Given the description of an element on the screen output the (x, y) to click on. 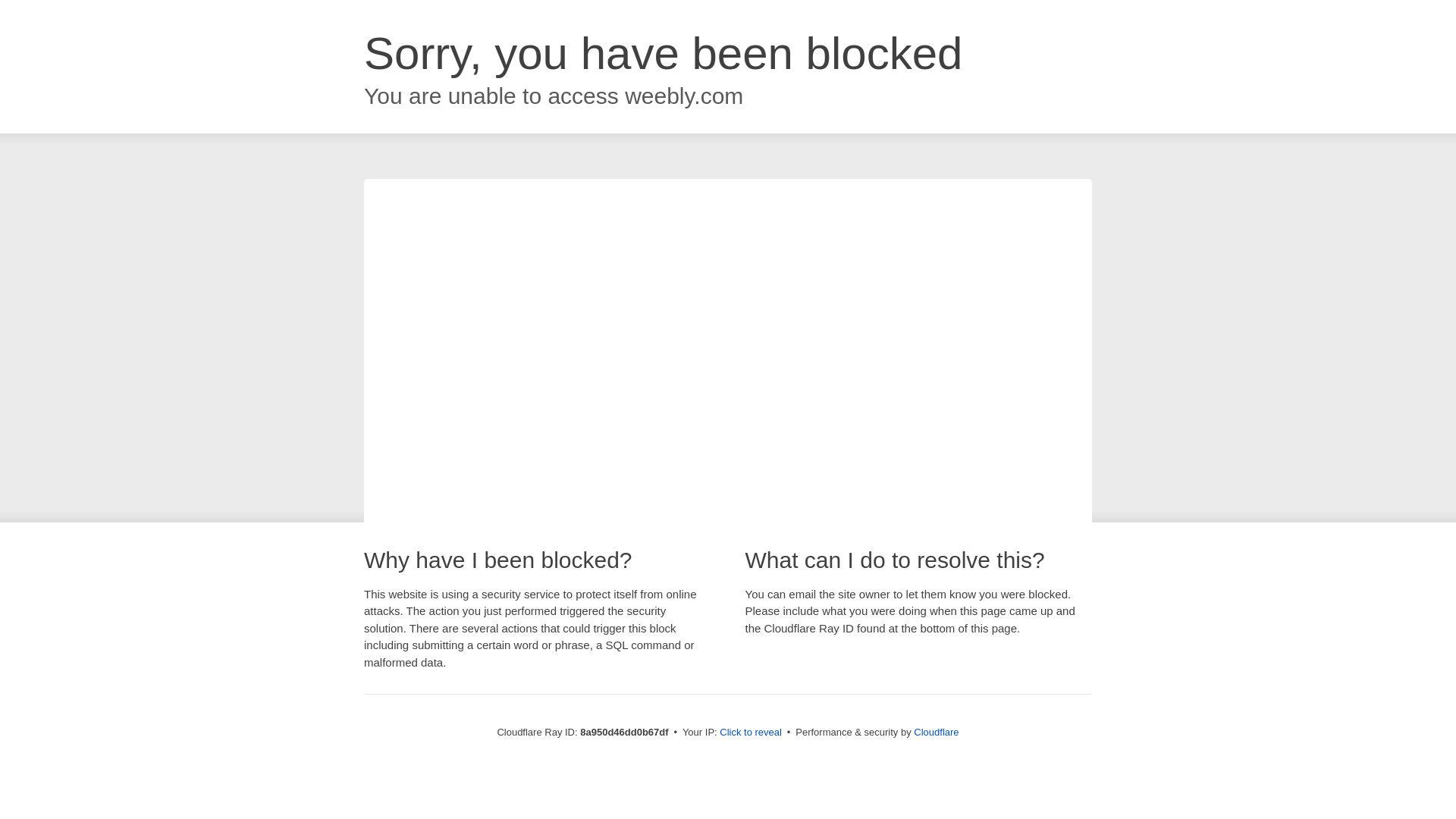
Click to reveal (750, 732)
Cloudflare (936, 731)
